Given the description of an element on the screen output the (x, y) to click on. 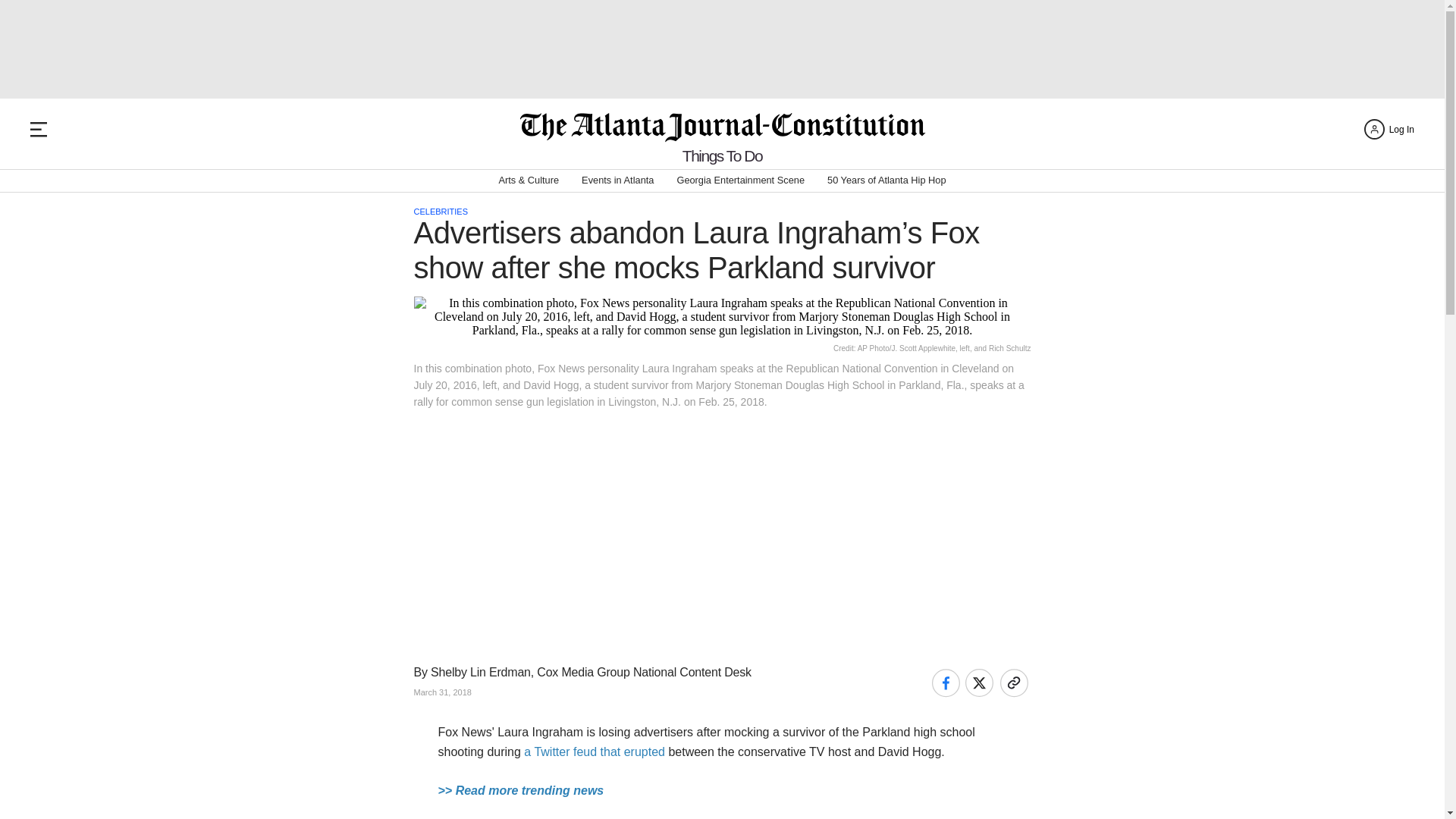
Georgia Entertainment Scene (741, 180)
Things To Do (721, 155)
Events in Atlanta (616, 180)
50 Years of Atlanta Hip Hop (886, 180)
